Given the description of an element on the screen output the (x, y) to click on. 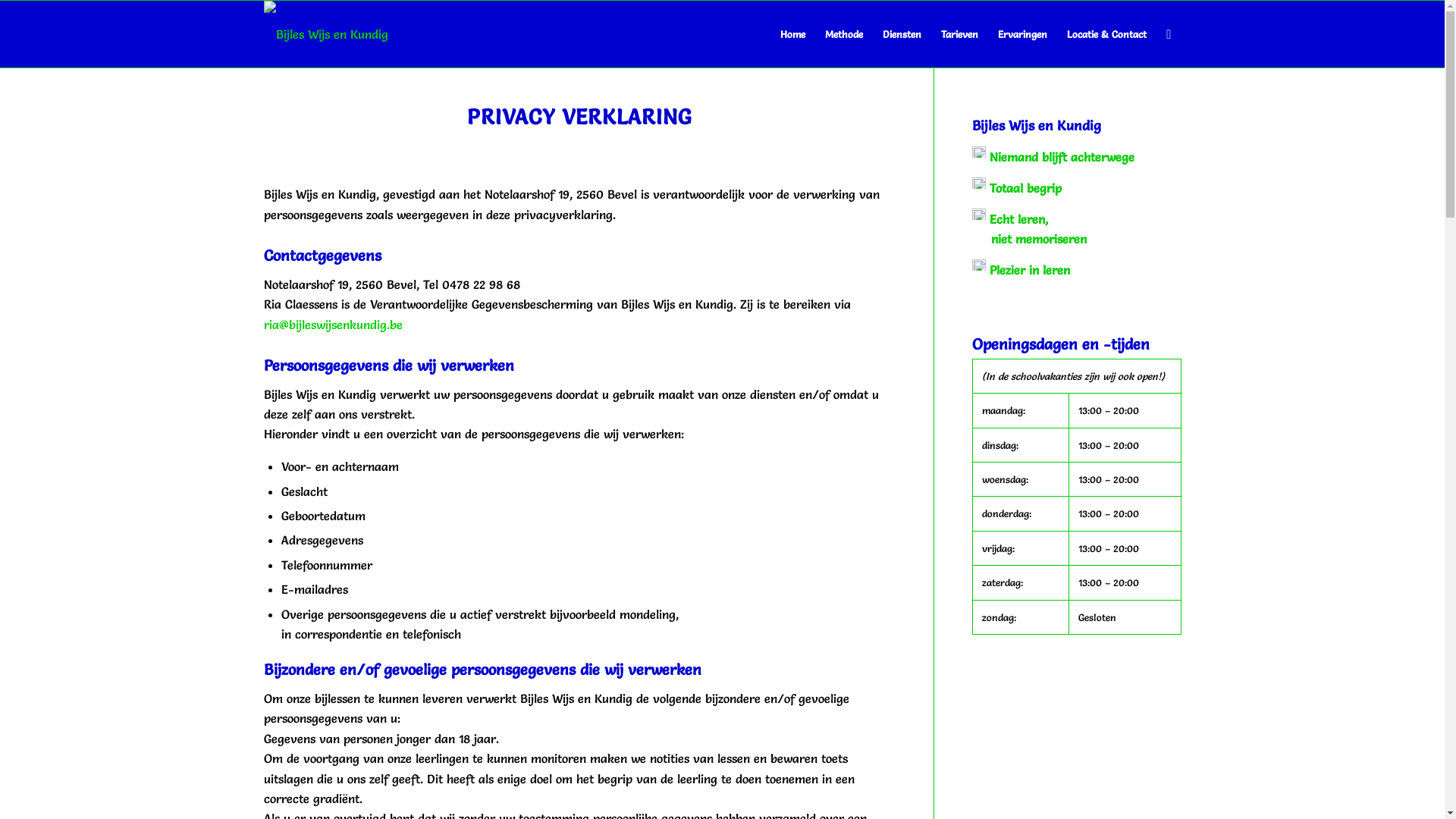
Diensten Element type: text (901, 33)
Methode Element type: text (843, 33)
Ervaringen Element type: text (1022, 33)
ria@bijleswijsenkundig.be Element type: text (332, 324)
Tarieven Element type: text (959, 33)
Locatie & Contact Element type: text (1106, 33)
Home Element type: text (792, 33)
